Given the description of an element on the screen output the (x, y) to click on. 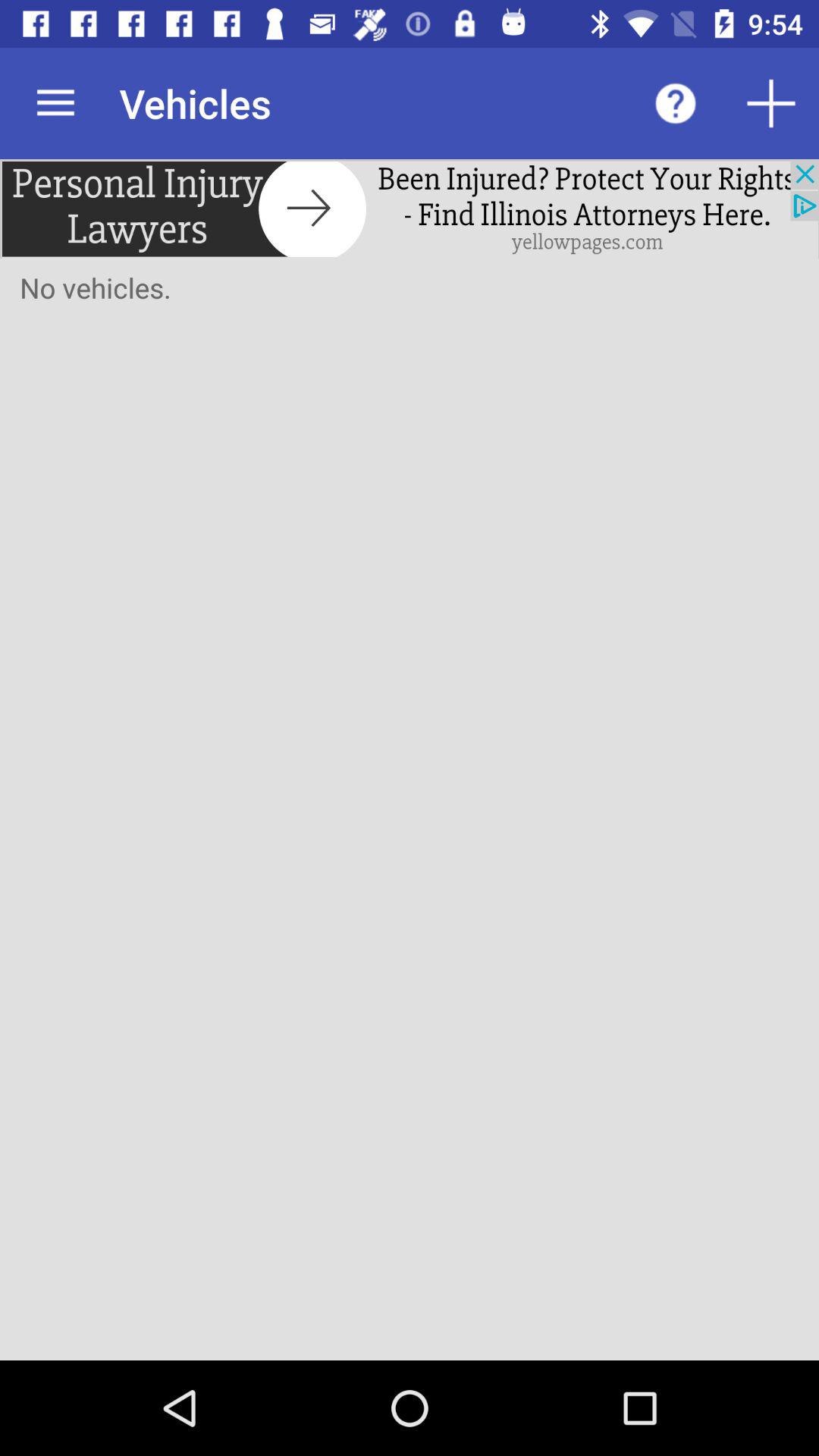
add fuel consumption (771, 103)
